Given the description of an element on the screen output the (x, y) to click on. 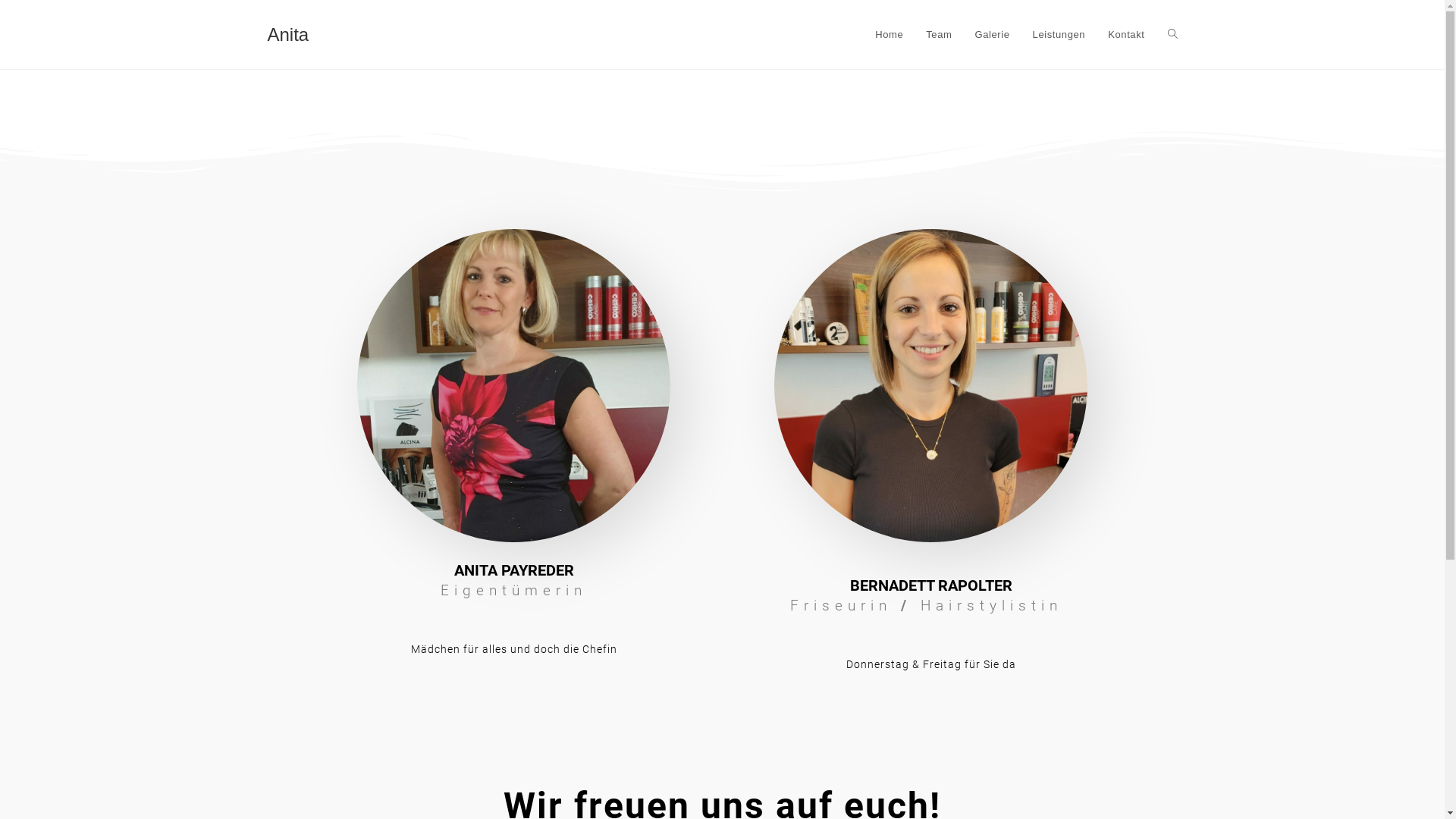
WhatsApp-Image-2021-04-29-at-20.18.24-2 Element type: hover (513, 385)
Home Element type: text (888, 34)
Galerie Element type: text (991, 34)
Anita Element type: text (287, 34)
Leistungen Element type: text (1059, 34)
Kontakt Element type: text (1125, 34)
BernadettRapolter Element type: hover (930, 385)
Team Element type: text (938, 34)
